Given the description of an element on the screen output the (x, y) to click on. 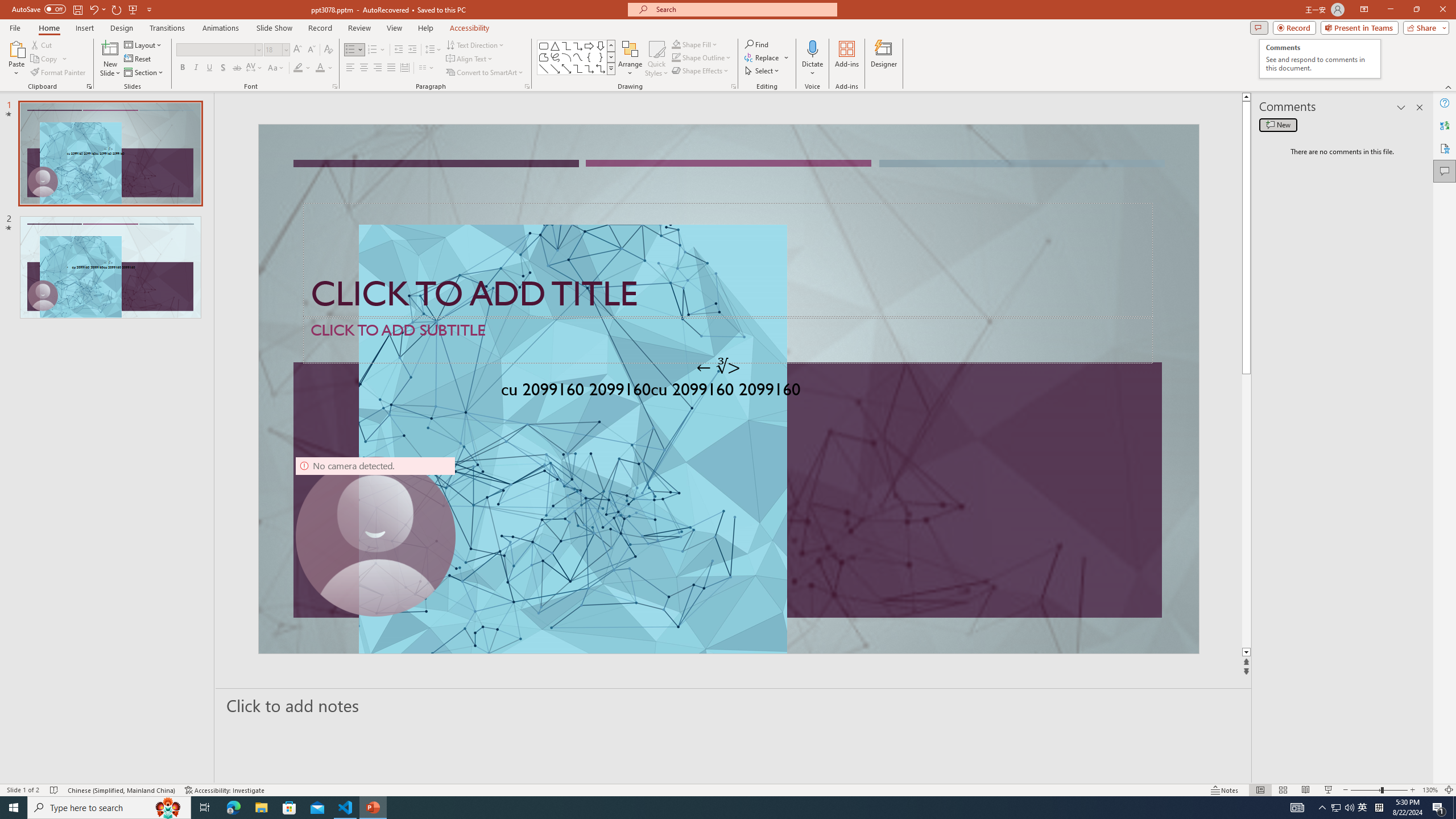
TextBox 61 (726, 391)
Slide Notes (733, 705)
TextBox 7 (718, 367)
Line Arrow: Double (566, 68)
